Given the description of an element on the screen output the (x, y) to click on. 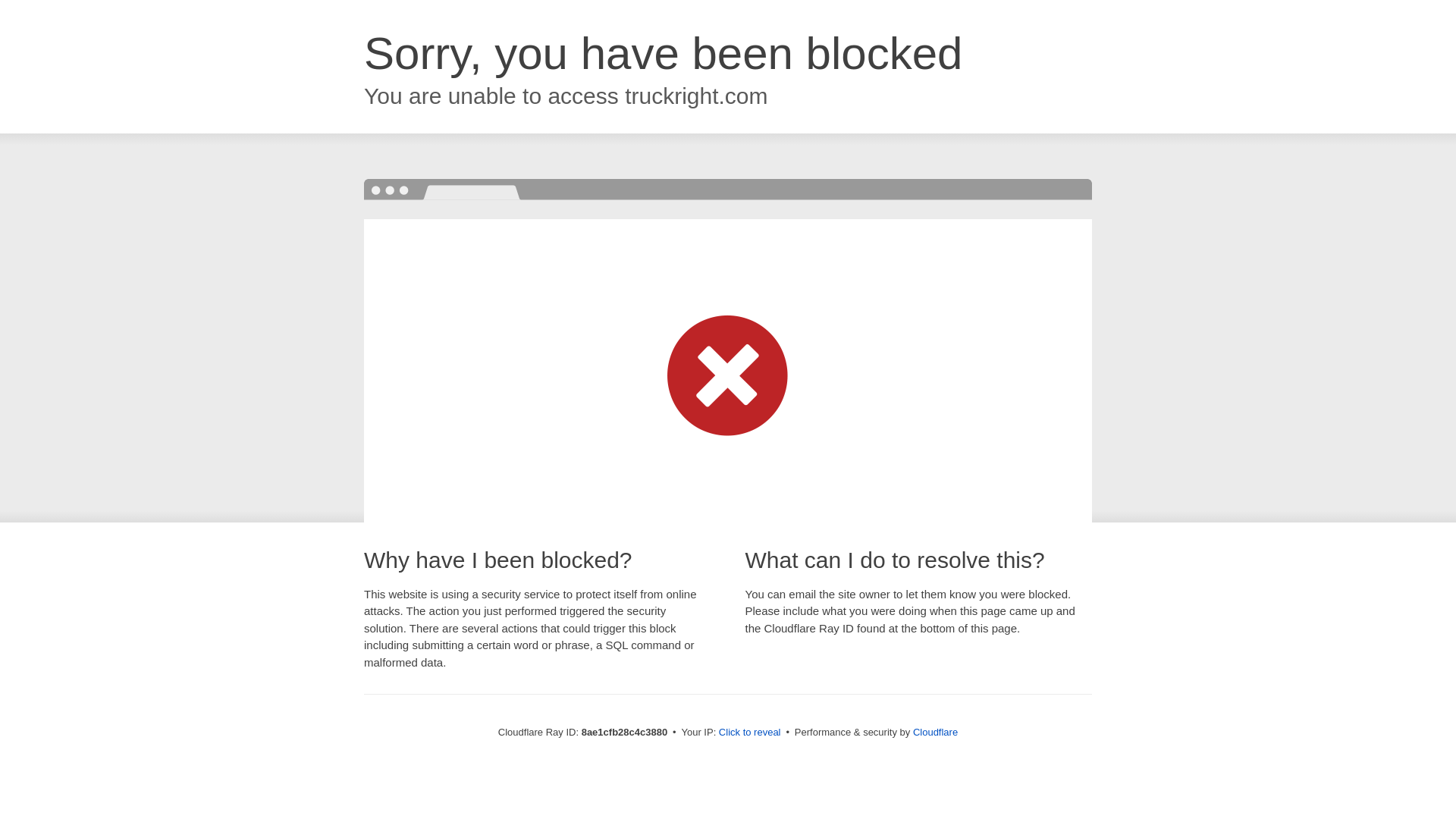
Cloudflare (935, 731)
Click to reveal (749, 732)
